Given the description of an element on the screen output the (x, y) to click on. 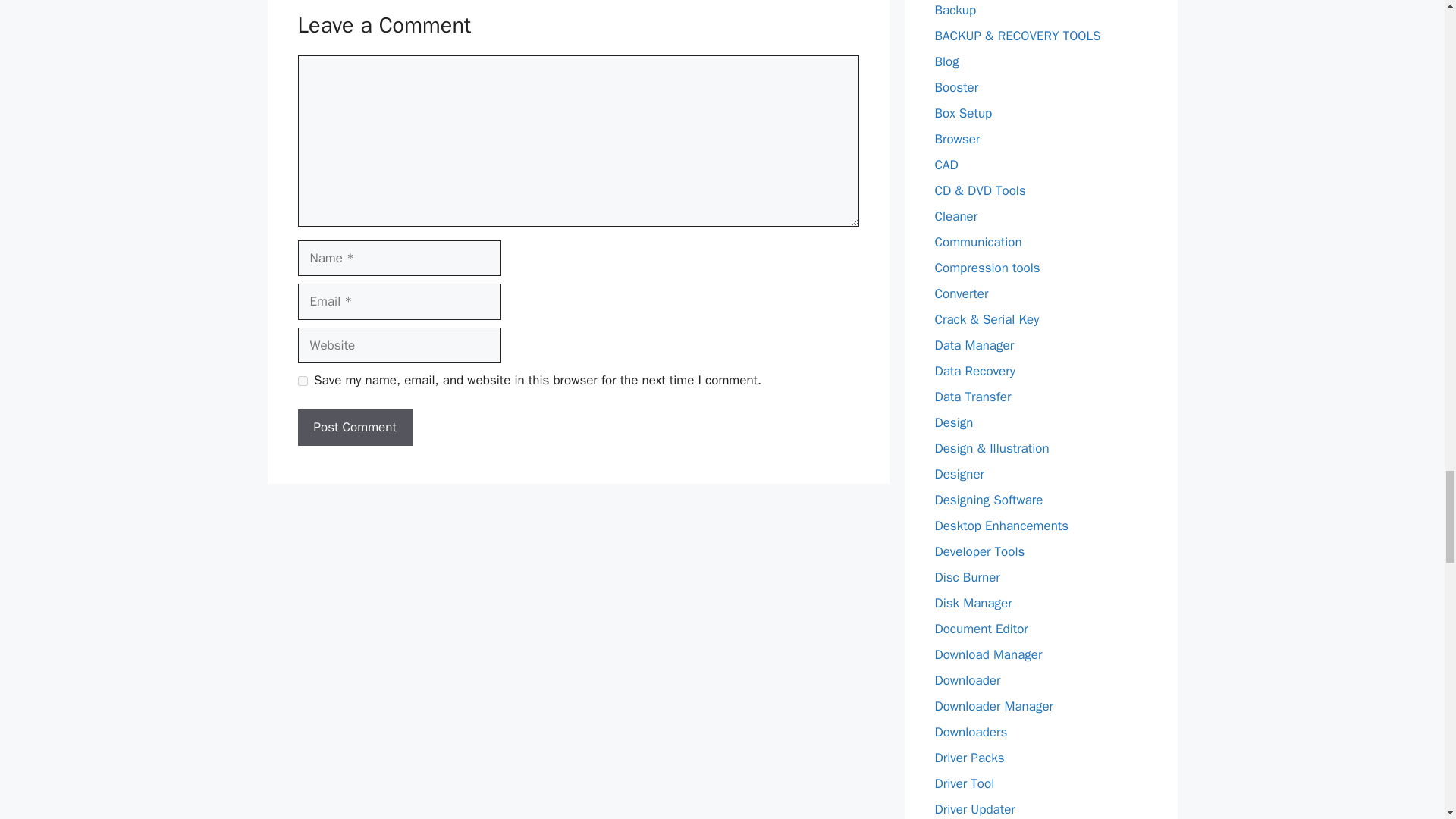
Post Comment (354, 427)
Post Comment (354, 427)
yes (302, 380)
